Given the description of an element on the screen output the (x, y) to click on. 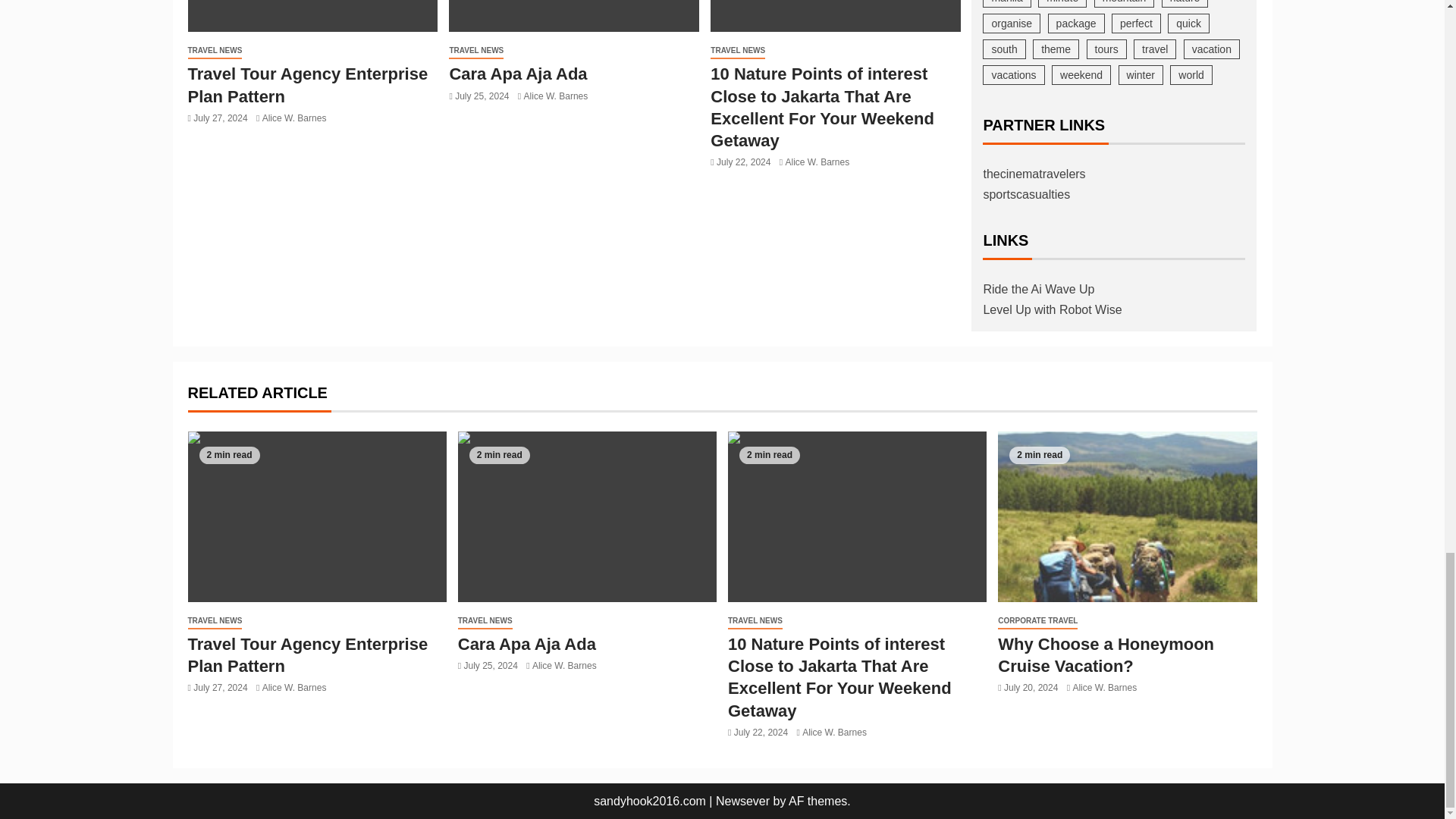
Alice W. Barnes (294, 118)
Travel Tour Agency Enterprise Plan Pattern (307, 84)
Travel Tour Agency Enterprise Plan Pattern (312, 15)
TRAVEL NEWS (215, 50)
Cara Apa Aja Ada (573, 15)
